Given the description of an element on the screen output the (x, y) to click on. 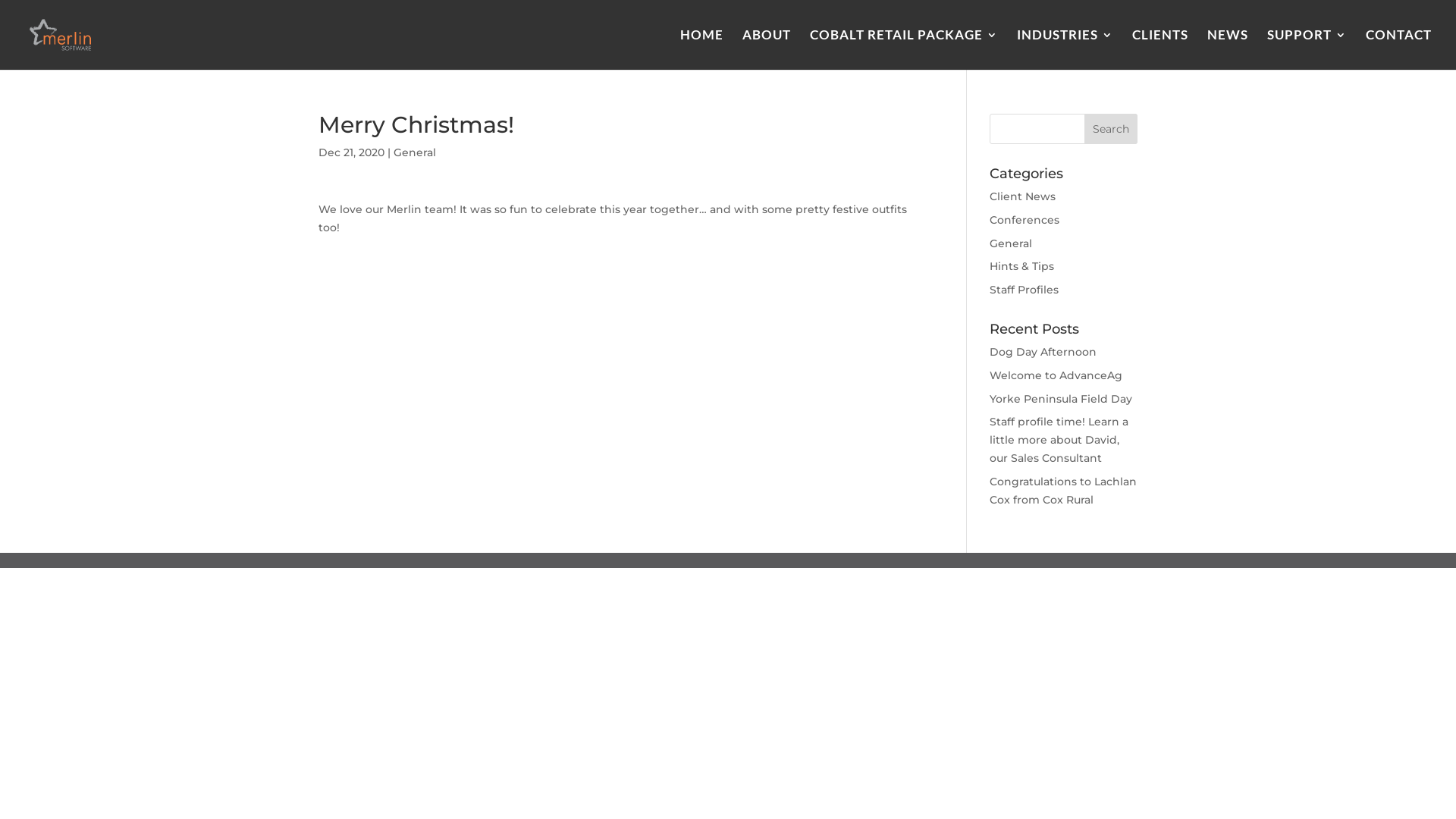
ABOUT Element type: text (766, 49)
CONTACT Element type: text (1398, 49)
Search Element type: text (1110, 128)
HOME Element type: text (701, 49)
Yorke Peninsula Field Day Element type: text (1060, 398)
Conferences Element type: text (1024, 219)
INDUSTRIES Element type: text (1064, 49)
Staff Profiles Element type: text (1023, 289)
General Element type: text (1010, 243)
Welcome to AdvanceAg Element type: text (1055, 375)
General Element type: text (414, 152)
Hints & Tips Element type: text (1021, 266)
CLIENTS Element type: text (1160, 49)
Dog Day Afternoon Element type: text (1042, 351)
SUPPORT Element type: text (1306, 49)
Congratulations to Lachlan Cox from Cox Rural Element type: text (1062, 490)
NEWS Element type: text (1227, 49)
COBALT RETAIL PACKAGE Element type: text (903, 49)
Client News Element type: text (1022, 196)
